Given the description of an element on the screen output the (x, y) to click on. 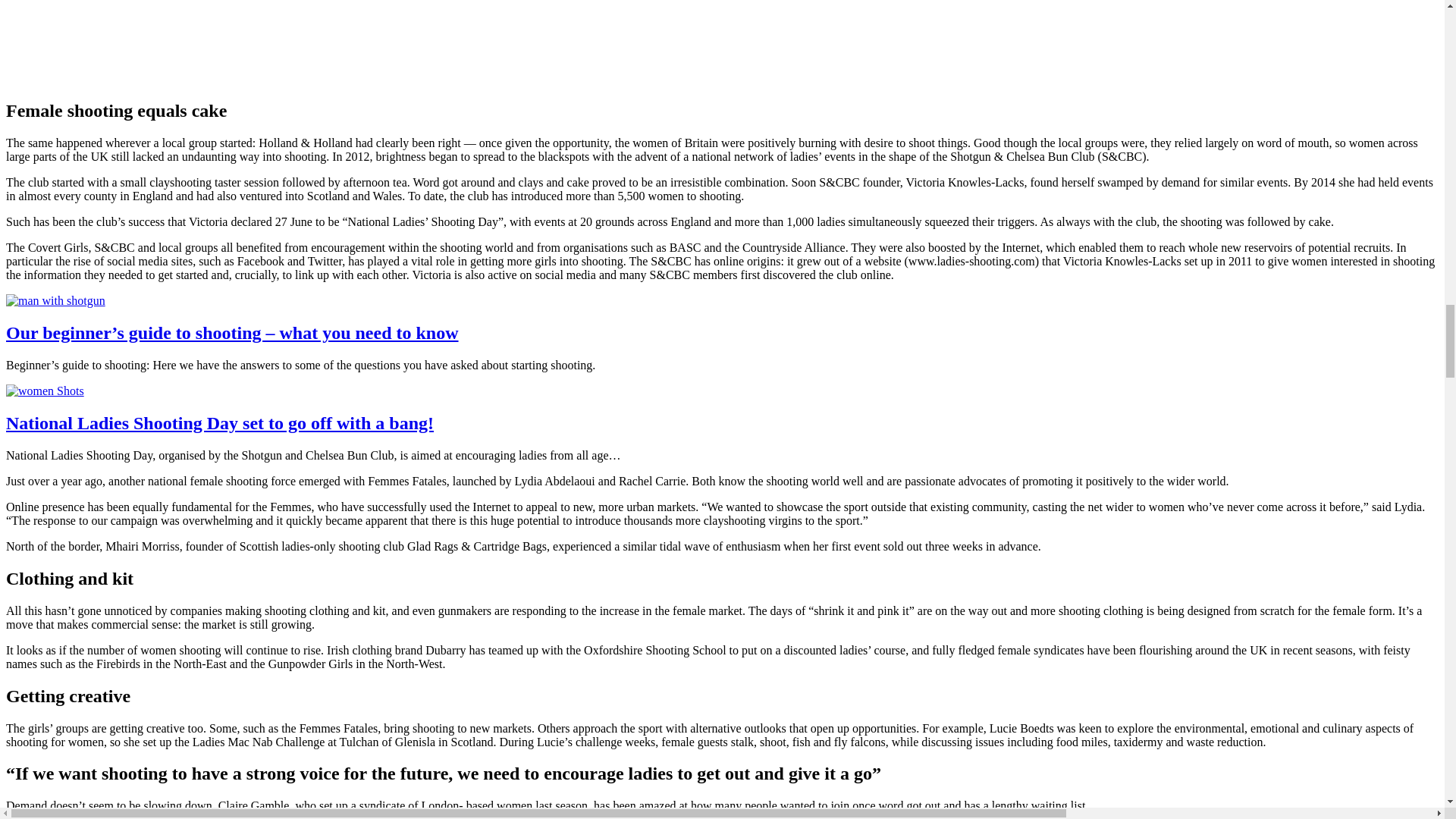
Chelsea Bun Club women go pheasant shooting (195, 41)
